Given the description of an element on the screen output the (x, y) to click on. 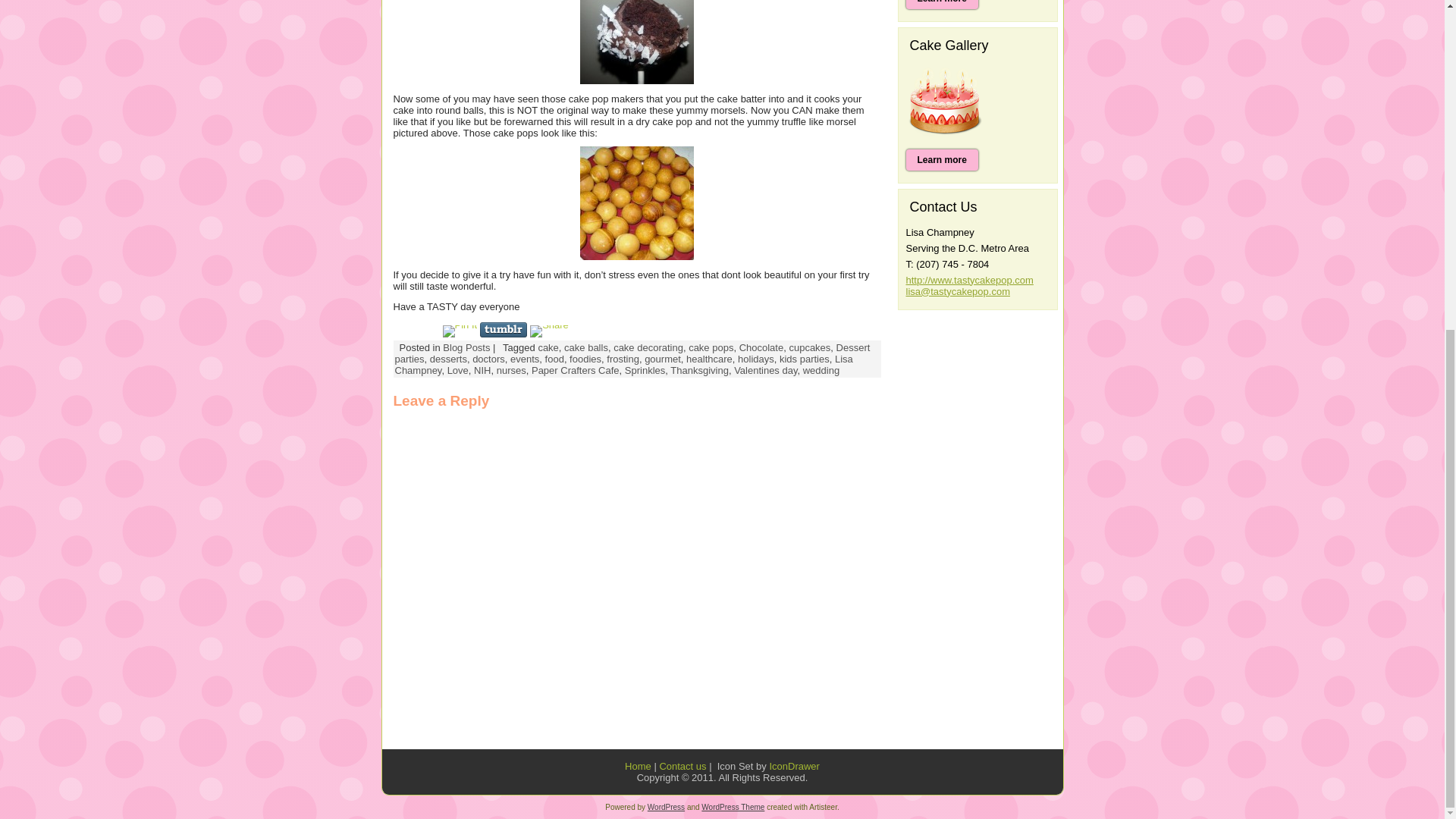
Valentines day (764, 369)
cake balls (586, 347)
Love (457, 369)
desserts (448, 358)
holidays (756, 358)
nurses (510, 369)
events (524, 358)
gourmet (663, 358)
cupcakes (809, 347)
healthcare (708, 358)
Share on Tumblr (503, 329)
Chocolate (761, 347)
cake (547, 347)
Paper Crafters Cafe (575, 369)
frosting (623, 358)
